Given the description of an element on the screen output the (x, y) to click on. 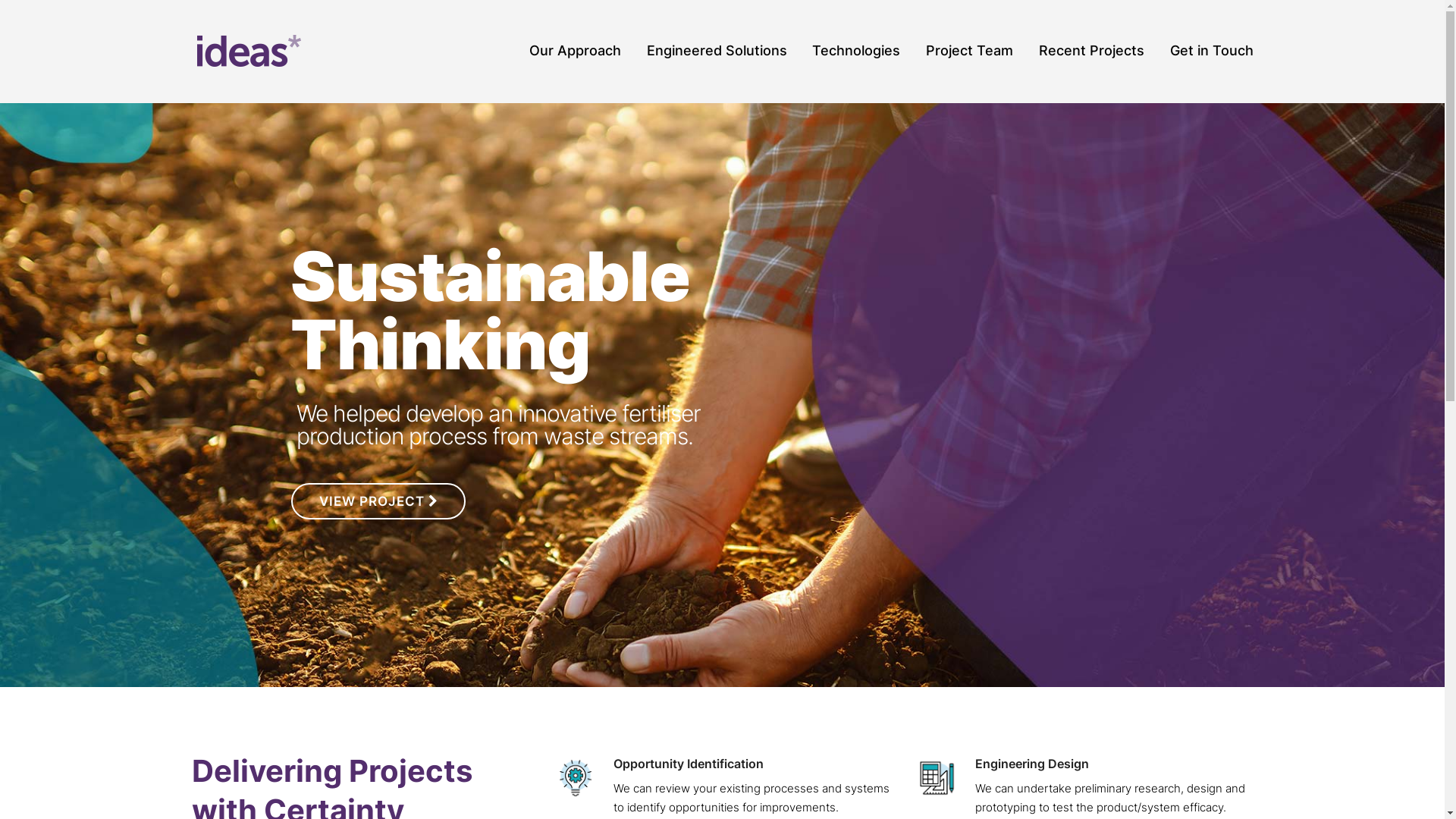
VIEW PROJECT Element type: text (378, 501)
Our Approach Element type: text (575, 51)
Get in Touch Element type: text (1210, 51)
Recent Projects Element type: text (1091, 51)
Engineered Solutions Element type: text (716, 51)
Project Team Element type: text (969, 51)
Technologies Element type: text (856, 51)
